Given the description of an element on the screen output the (x, y) to click on. 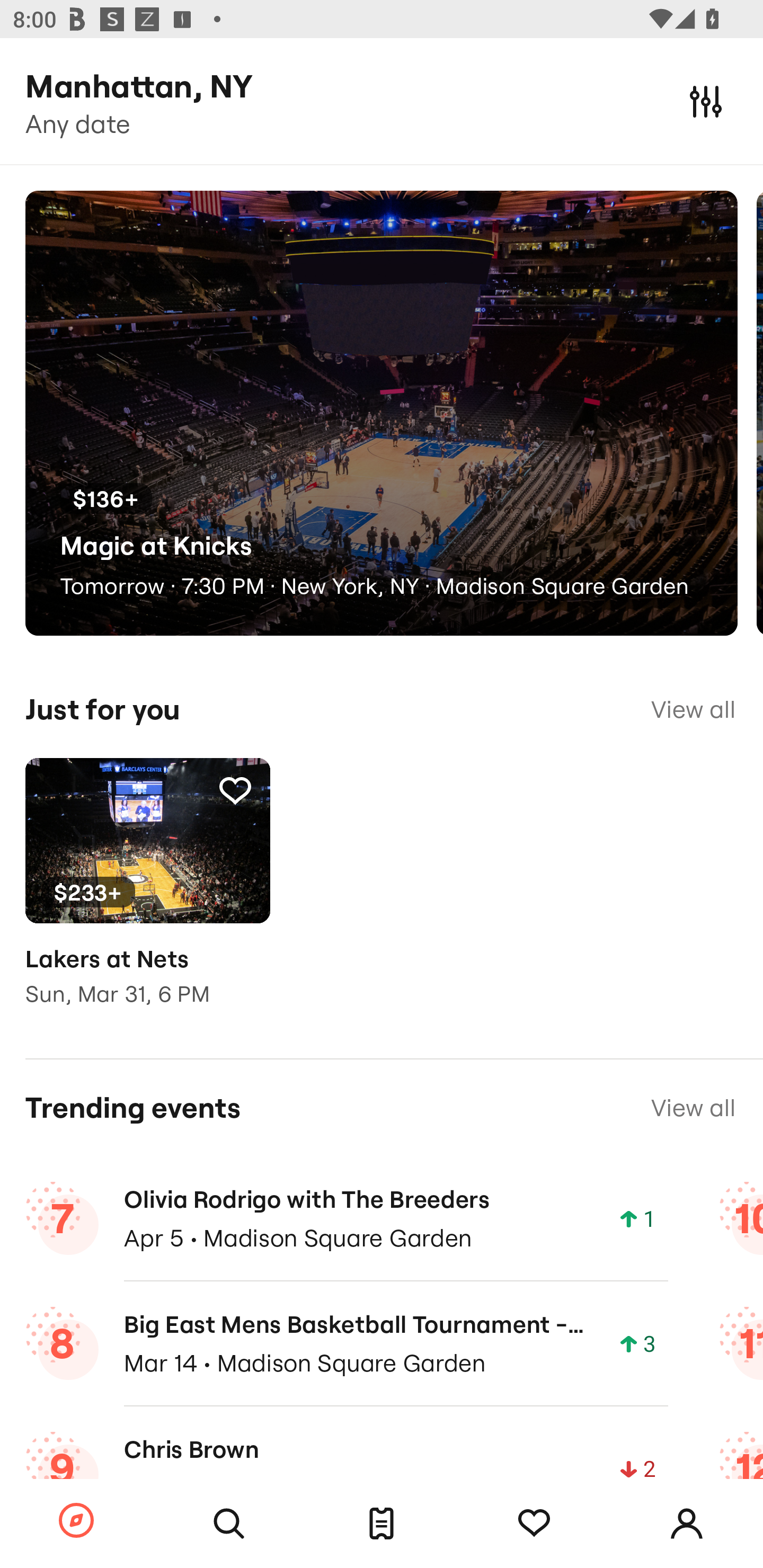
Close (705, 100)
View all (693, 709)
Tracking $233+ Lakers at Nets Sun, Mar 31, 6 PM (147, 895)
Tracking (234, 790)
View all (693, 1108)
Browse (76, 1521)
Search (228, 1523)
Tickets (381, 1523)
Tracking (533, 1523)
Account (686, 1523)
